Given the description of an element on the screen output the (x, y) to click on. 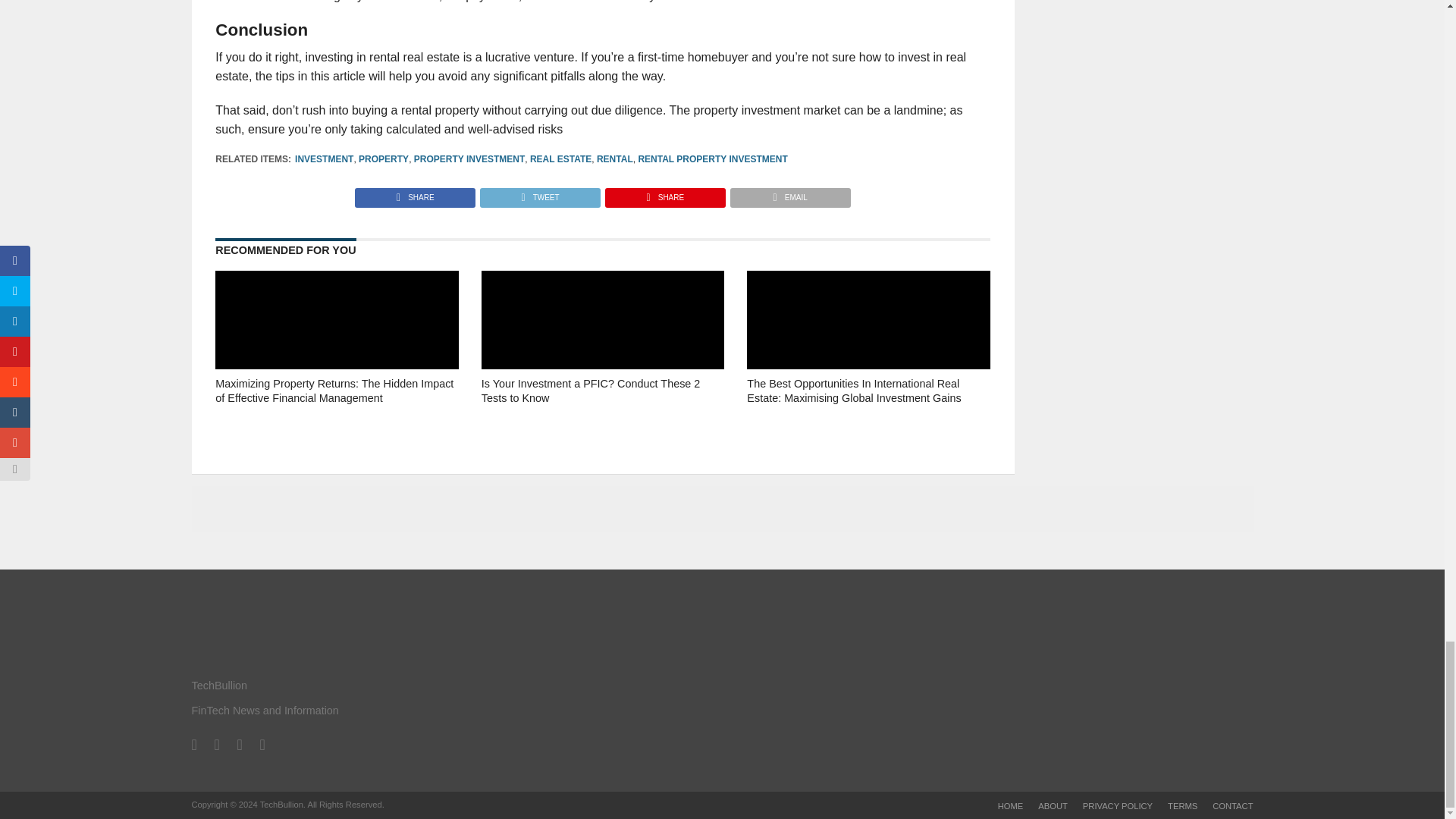
Pin This Post (664, 193)
Tweet This Post (539, 193)
Share on Facebook (415, 193)
